Given the description of an element on the screen output the (x, y) to click on. 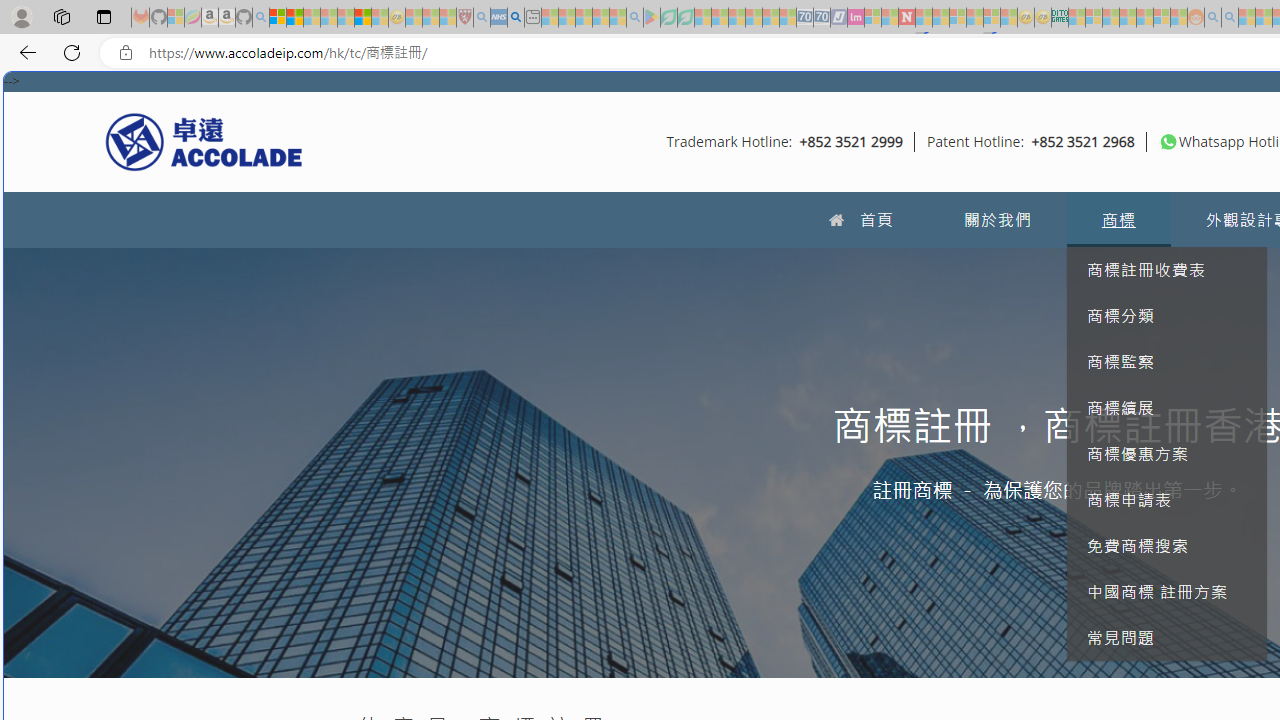
utah sues federal government - Search (515, 17)
Robert H. Shmerling, MD - Harvard Health - Sleeping (465, 17)
New Report Confirms 2023 Was Record Hot | Watch - Sleeping (345, 17)
Microsoft Start - Sleeping (1247, 17)
DITOGAMES AG Imprint (1059, 17)
New tab - Sleeping (532, 17)
Utah sues federal government - Search - Sleeping (1229, 17)
14 Common Myths Debunked By Scientific Facts - Sleeping (940, 17)
